Given the description of an element on the screen output the (x, y) to click on. 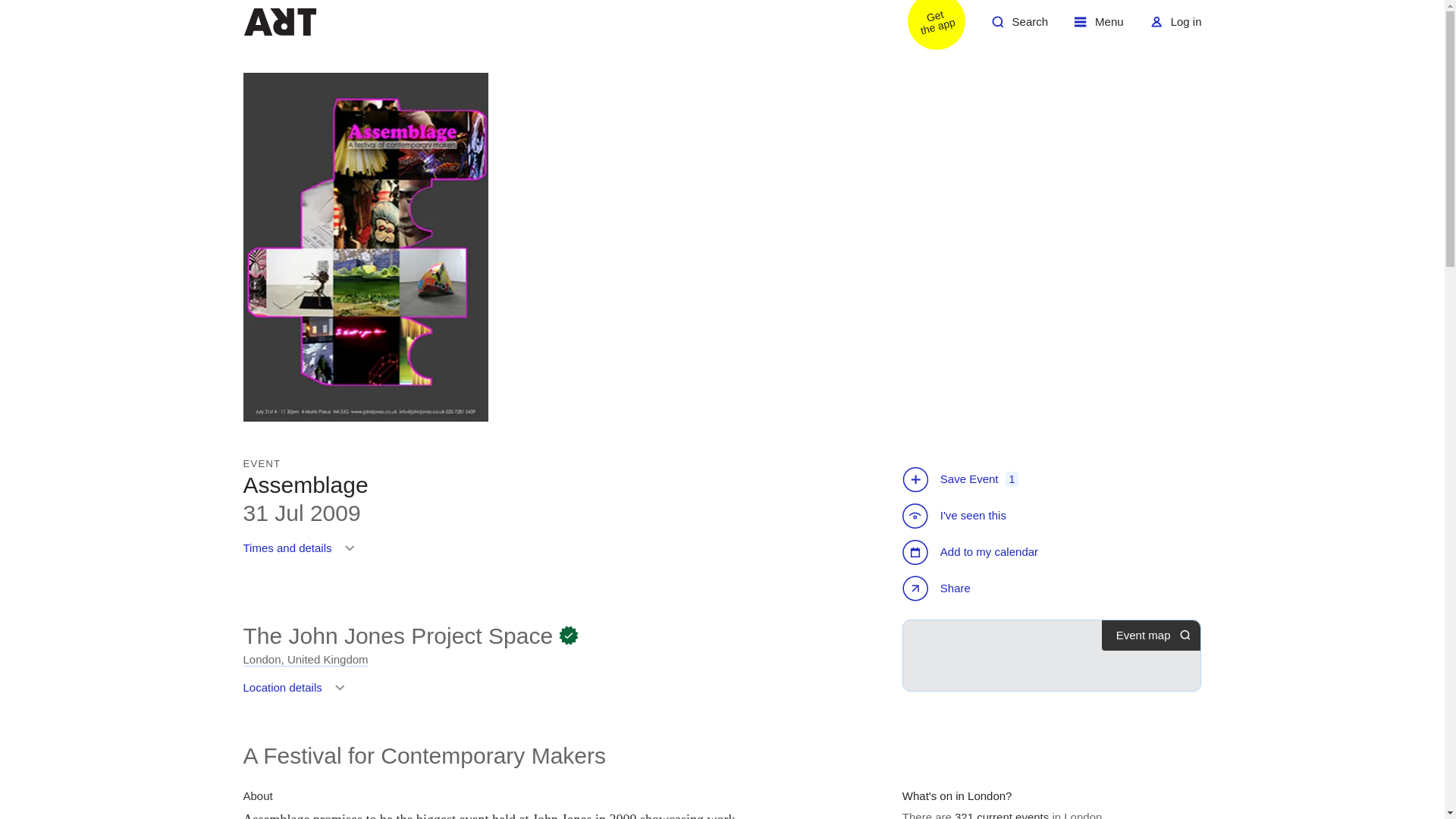
Share (1099, 26)
The John Jones Project Space (938, 589)
London, United Kingdom (398, 635)
Welcome to ArtRabbit (1176, 26)
321 current events (305, 659)
What's on in London? (279, 22)
Add to my calendar (1001, 814)
